Given the description of an element on the screen output the (x, y) to click on. 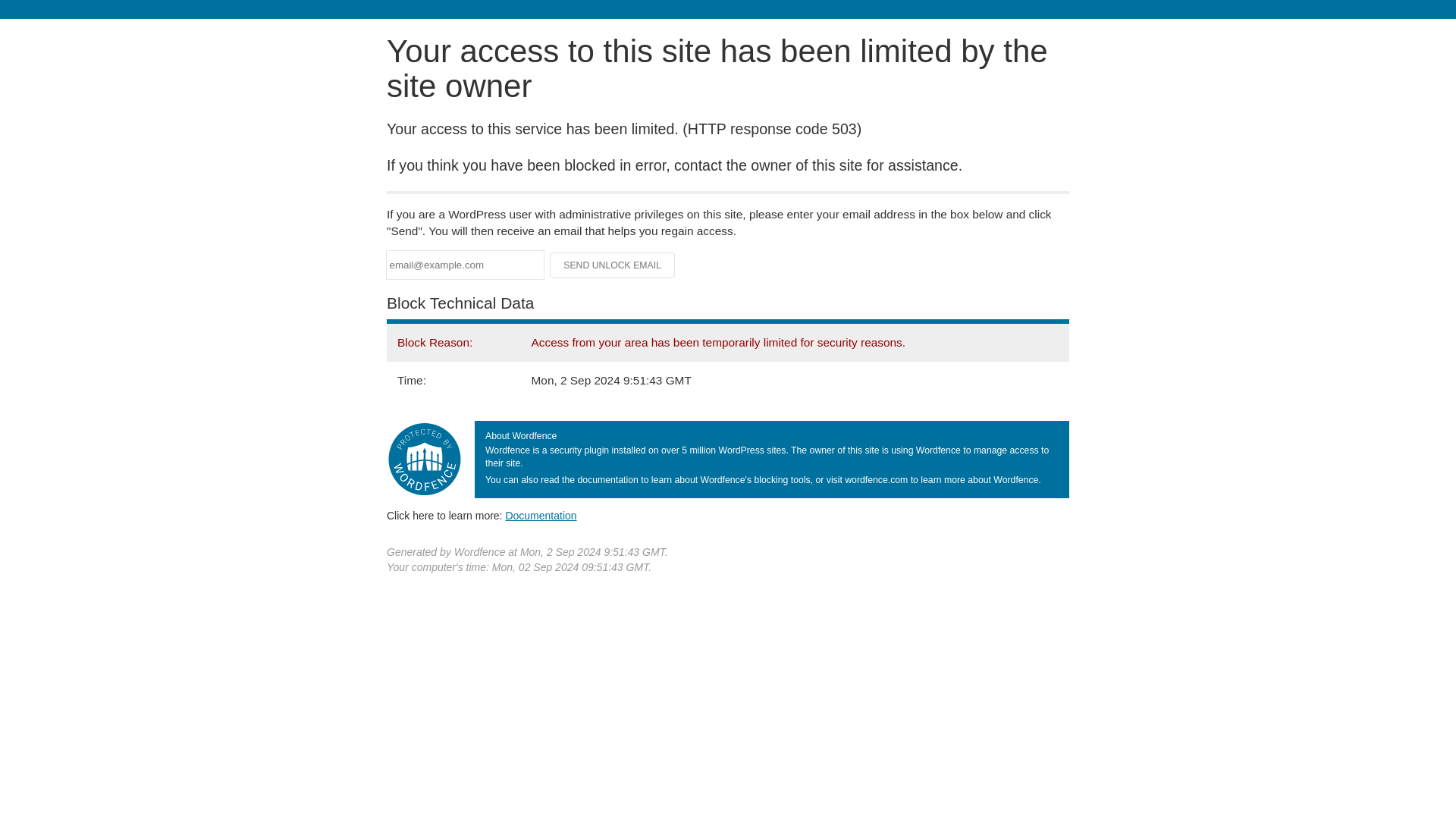
Send Unlock Email (612, 265)
Documentation (540, 515)
Send Unlock Email (612, 265)
